Given the description of an element on the screen output the (x, y) to click on. 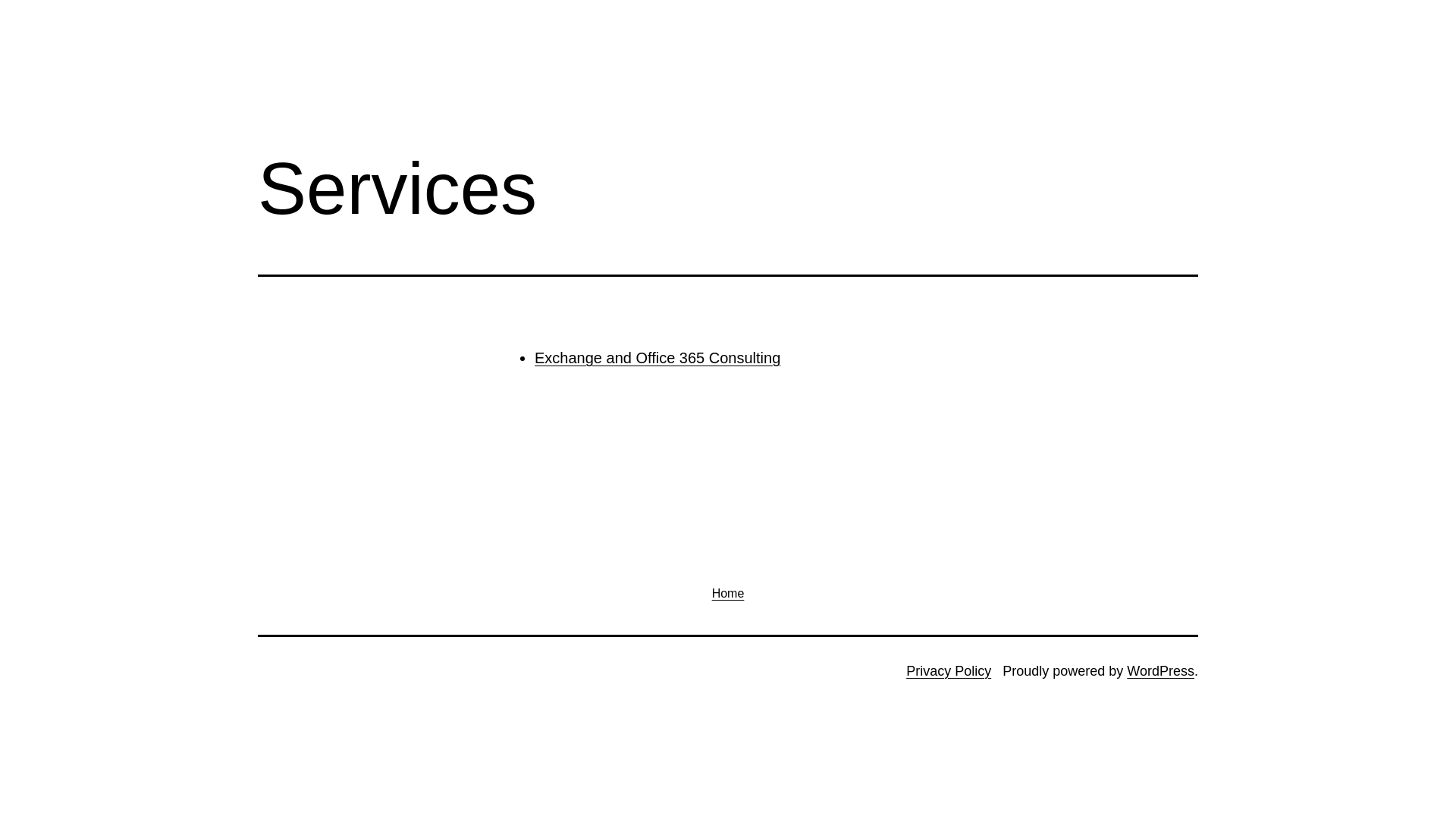
Exchange and Office 365 Consulting Element type: text (657, 357)
WordPress Element type: text (1160, 670)
Privacy Policy Element type: text (948, 670)
Home Element type: text (727, 592)
